Given the description of an element on the screen output the (x, y) to click on. 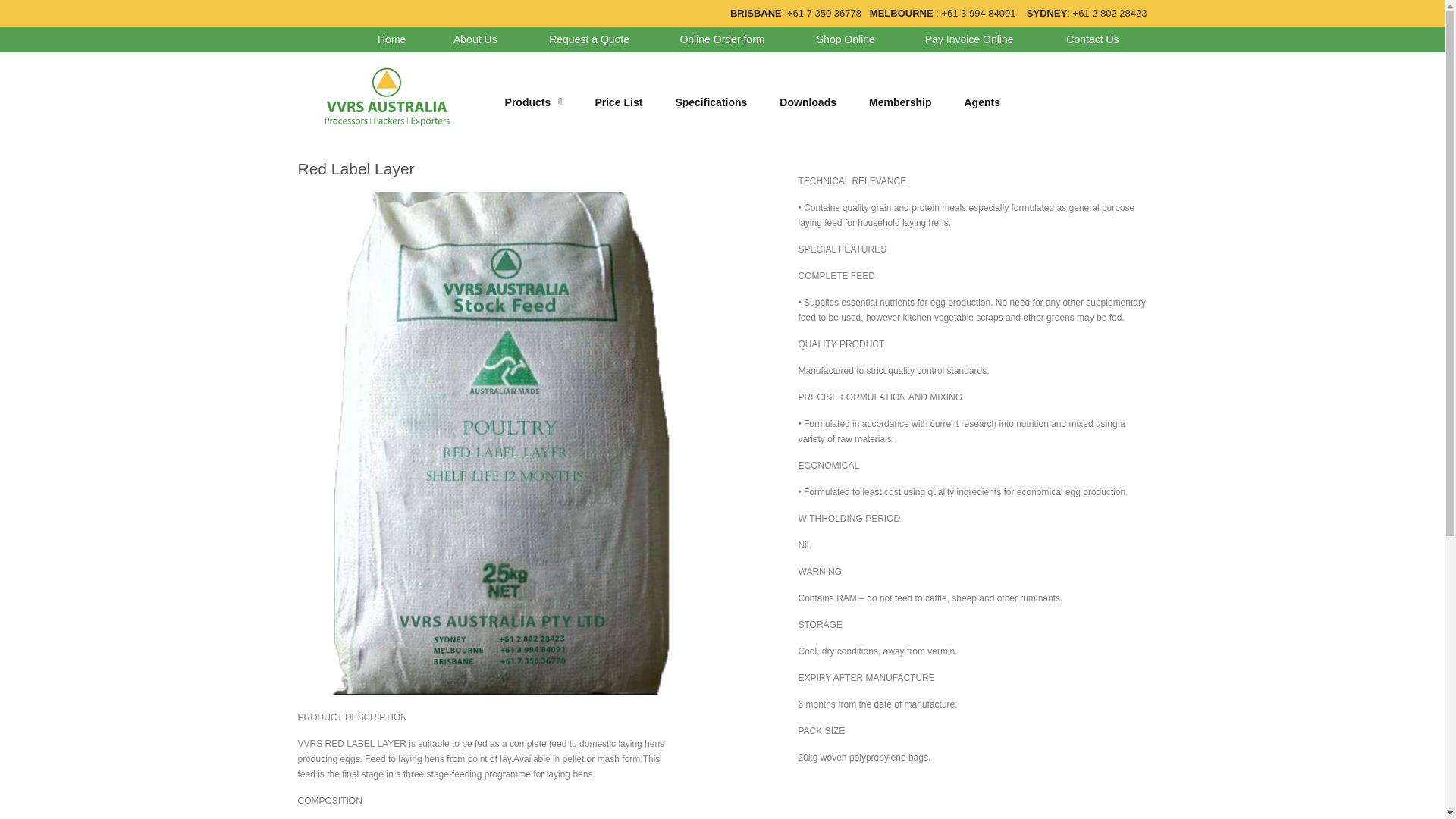
Request a Quote (588, 39)
Contact Us (1091, 39)
Online Order form (721, 39)
Products (533, 101)
About Us (474, 39)
Home (391, 39)
